Given the description of an element on the screen output the (x, y) to click on. 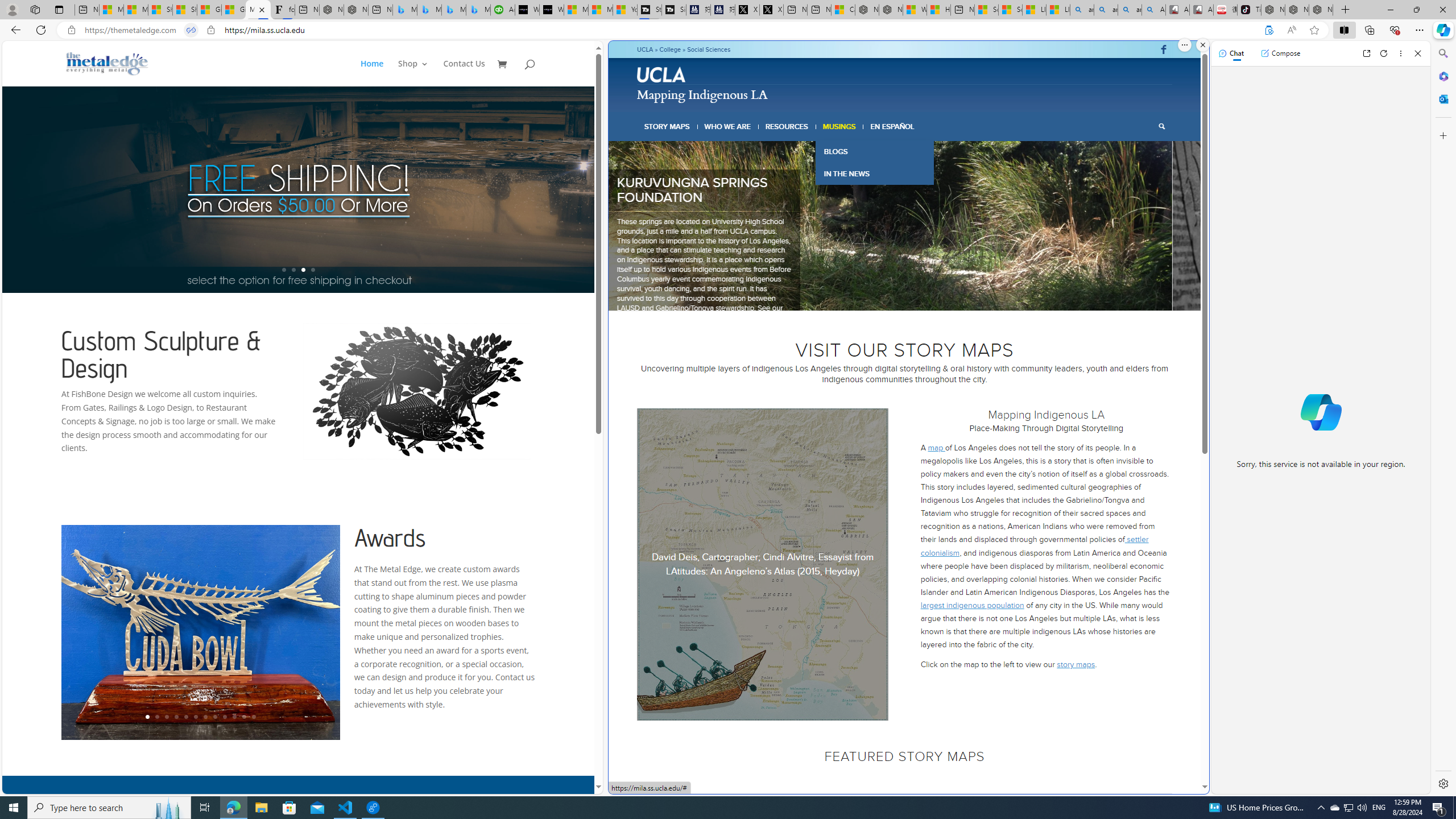
Shanghai, China weather forecast | Microsoft Weather (184, 9)
RESOURCES (786, 126)
More options (1401, 53)
Nordace - Best Sellers (1273, 9)
largest indigenous population (972, 604)
